Given the description of an element on the screen output the (x, y) to click on. 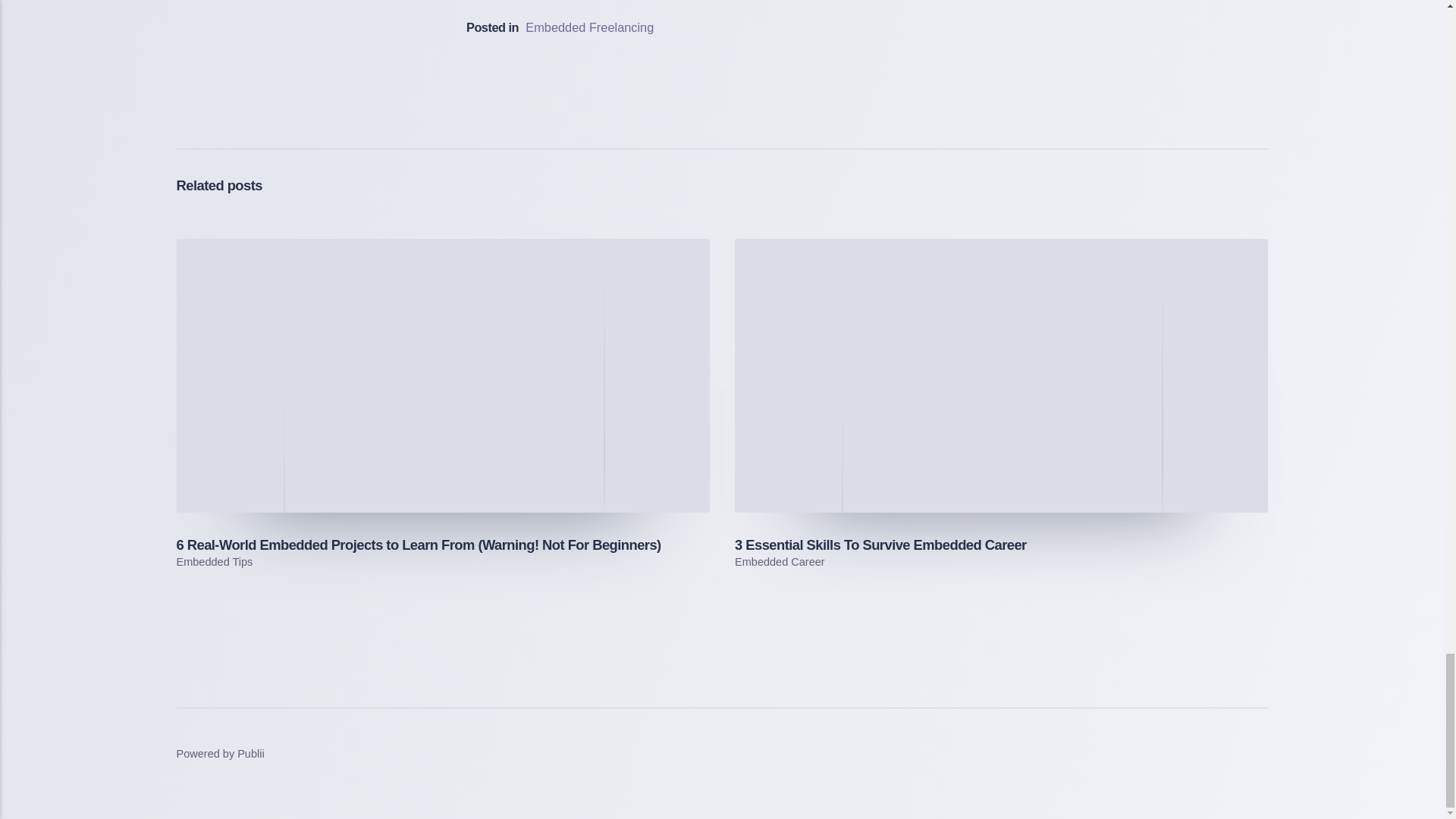
Embedded Tips (213, 561)
3 Essential Skills To Survive Embedded Career (880, 544)
Embedded Freelancing (589, 27)
Embedded Career (780, 561)
